Given the description of an element on the screen output the (x, y) to click on. 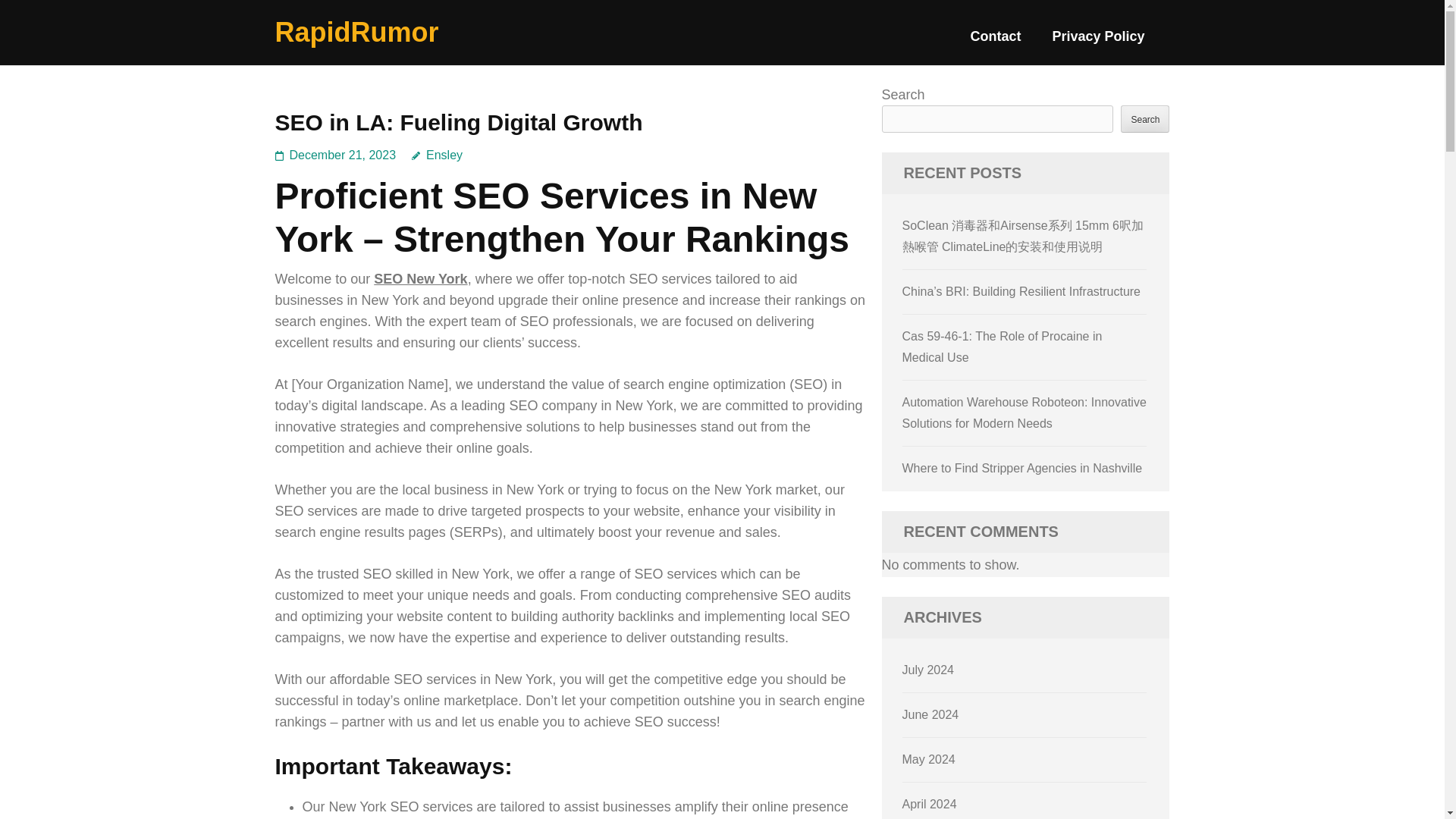
July 2024 (928, 669)
Search (1145, 118)
Ensley (437, 154)
June 2024 (930, 714)
May 2024 (928, 758)
Contact (994, 42)
Where to Find Stripper Agencies in Nashville (1022, 468)
Cas 59-46-1: The Role of Procaine in Medical Use (1002, 346)
RapidRumor (356, 31)
April 2024 (929, 803)
Privacy Policy (1097, 42)
December 21, 2023 (342, 154)
SEO New York (420, 278)
